Given the description of an element on the screen output the (x, y) to click on. 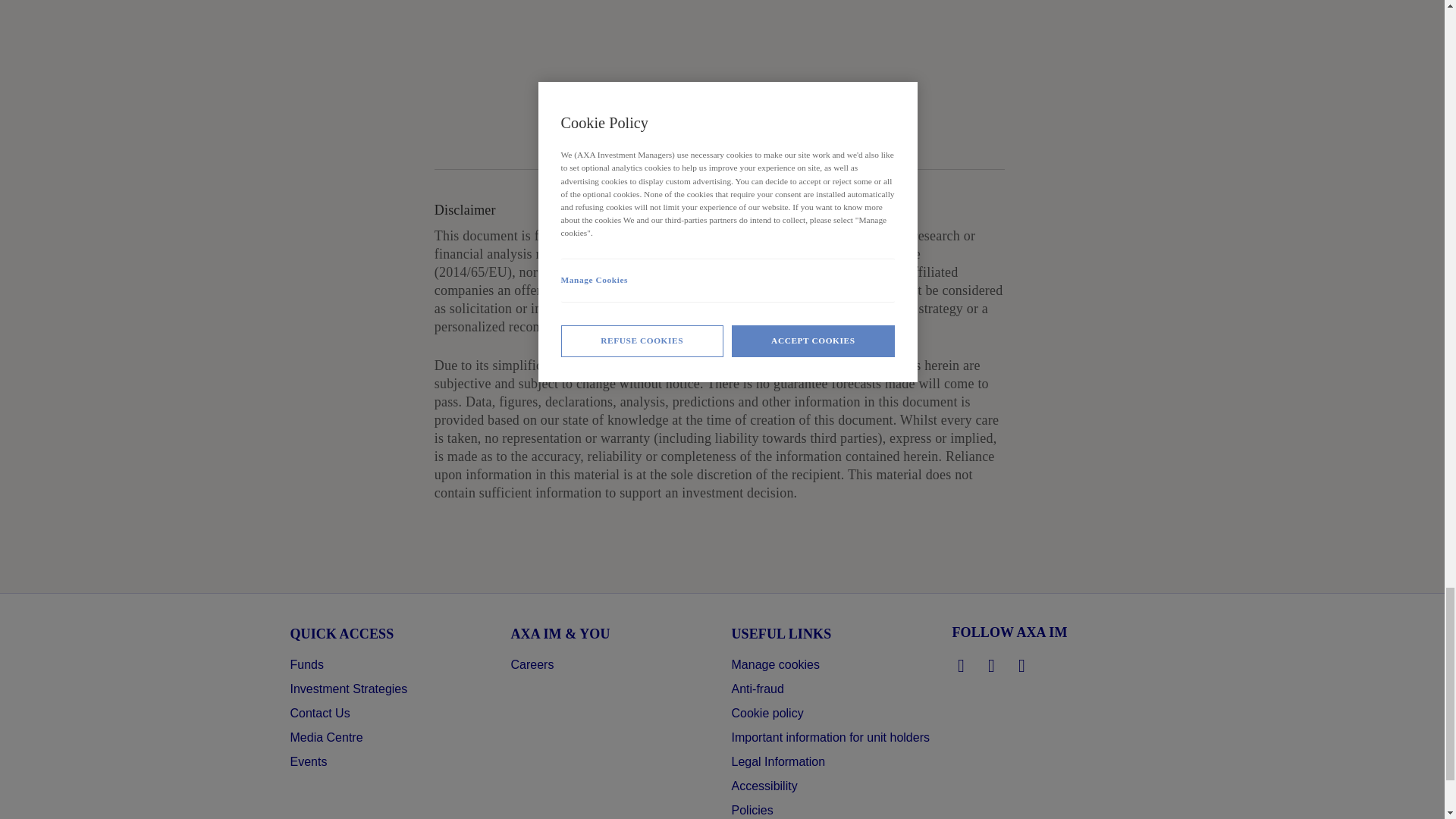
Careers - New window (532, 665)
Follow us on Youtube - New window (1021, 665)
Follow us on LinkedIn - New window (961, 665)
Follow us on Twitter - New window (991, 665)
